Given the description of an element on the screen output the (x, y) to click on. 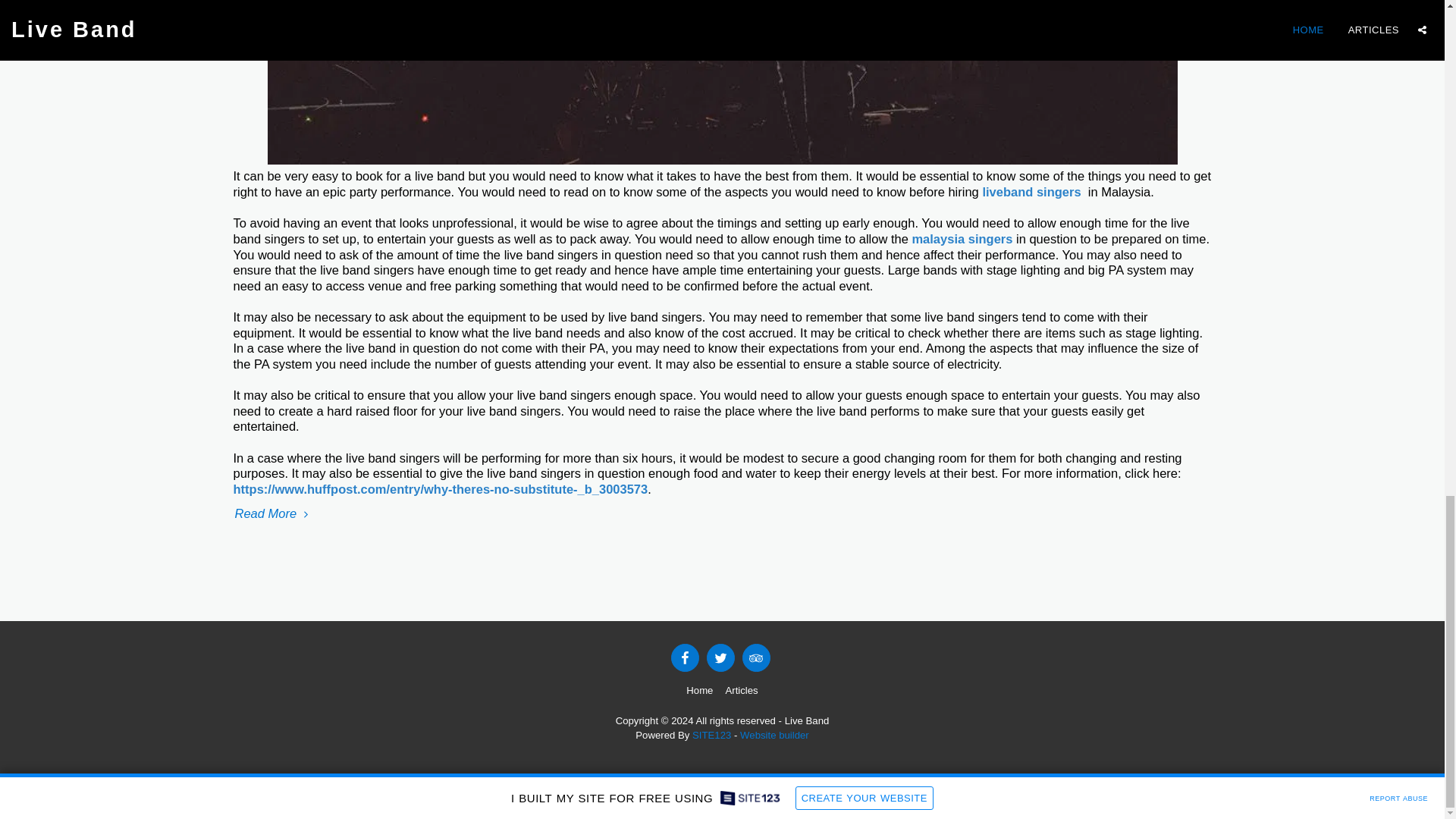
malaysia singers (961, 238)
Articles (741, 690)
Articles (741, 690)
Website builder (774, 735)
Home (699, 690)
Home (699, 690)
SITE123 (711, 735)
